Given the description of an element on the screen output the (x, y) to click on. 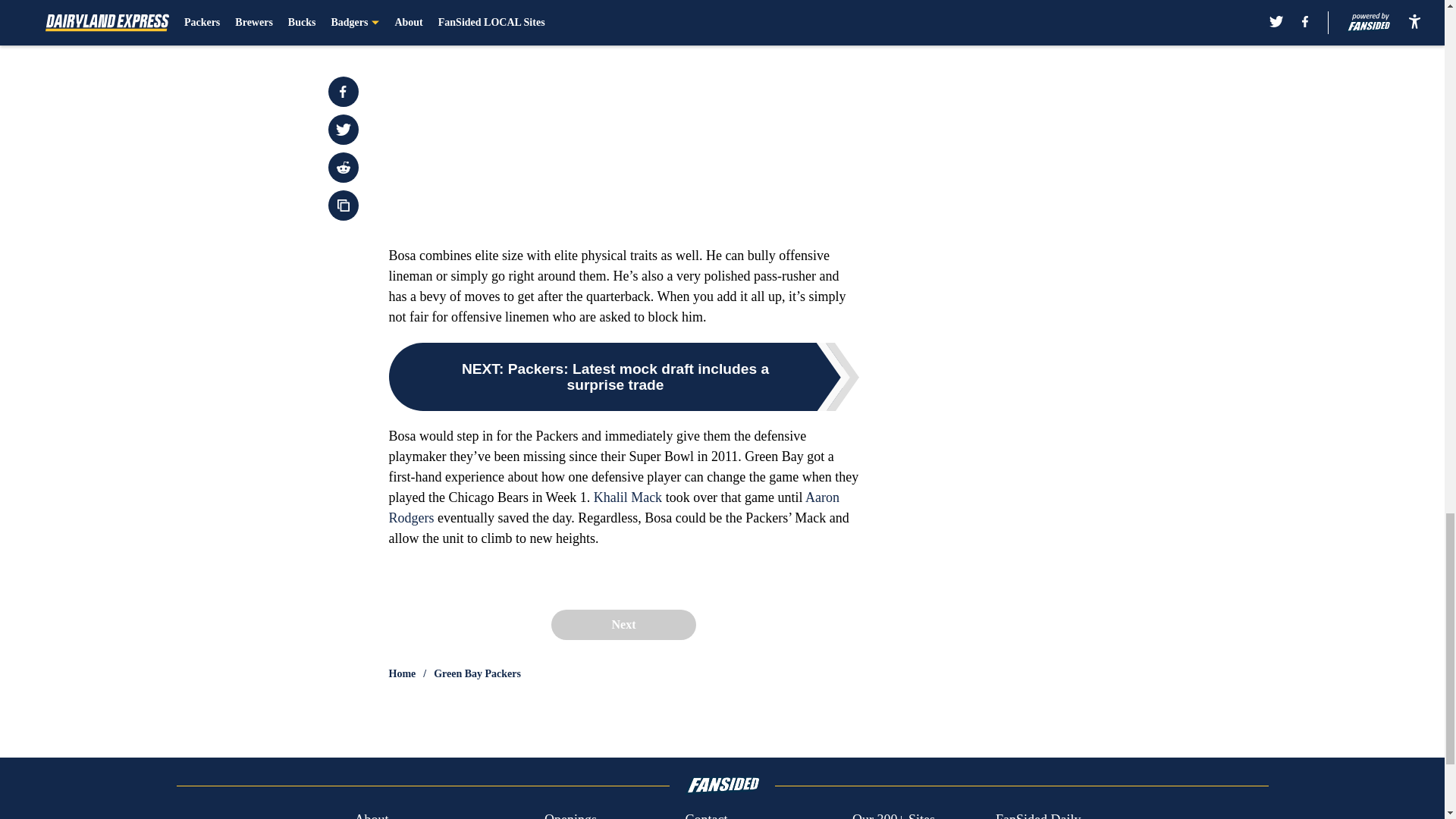
Green Bay Packers (477, 673)
Next (622, 624)
FanSided Daily (1038, 814)
NEXT: Packers: Latest mock draft includes a surprise trade (623, 377)
About (370, 814)
Contact (705, 814)
Aaron Rodgers (614, 507)
Openings (570, 814)
Khalil Mack (628, 497)
Home (401, 673)
